Given the description of an element on the screen output the (x, y) to click on. 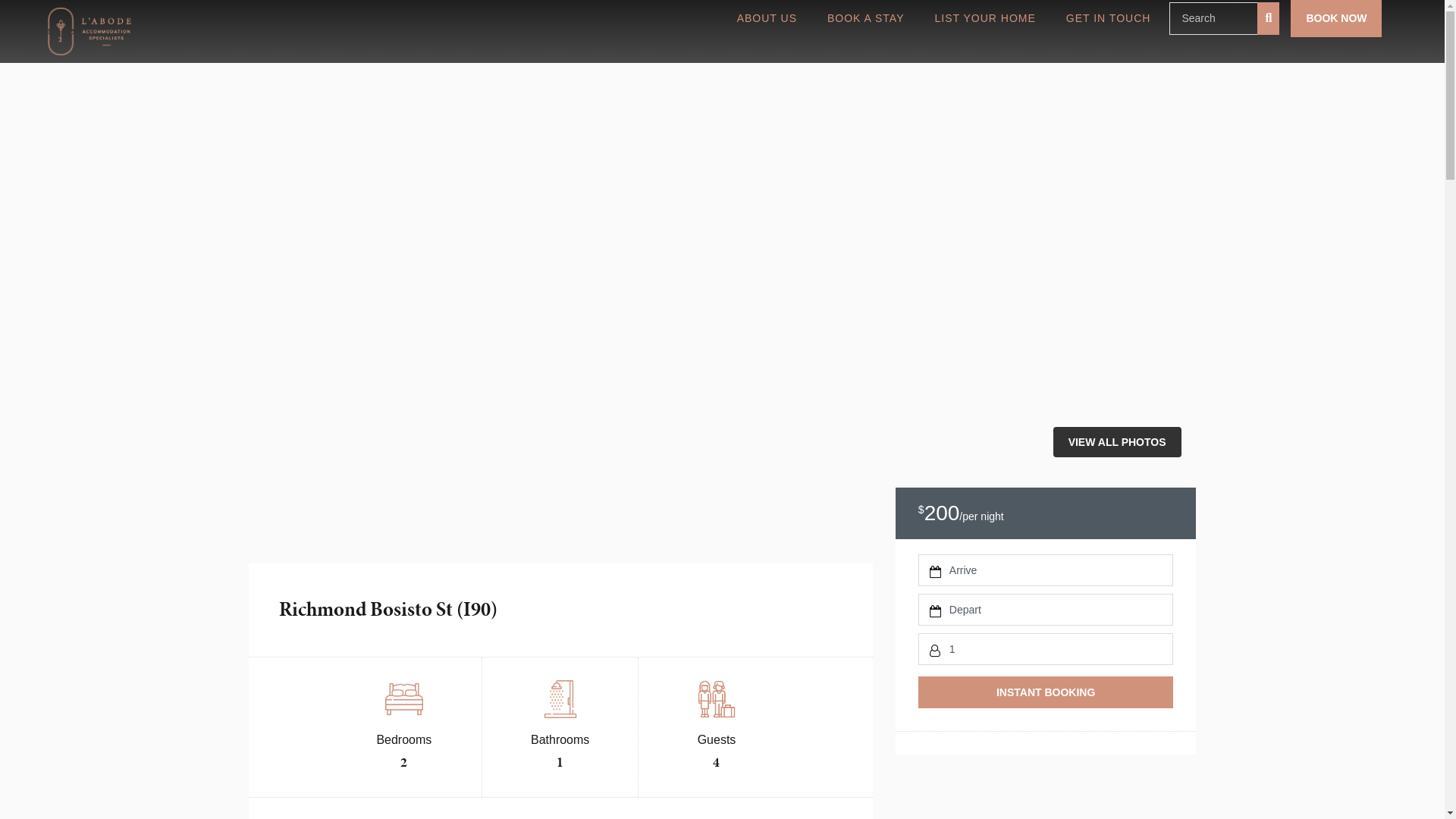
INSTANT BOOKING Element type: text (1045, 692)
LIST YOUR HOME Element type: text (985, 18)
GET IN TOUCH Element type: text (1108, 18)
BOOK NOW Element type: text (1335, 18)
BOOK A STAY Element type: text (865, 18)
ABOUT US Element type: text (766, 18)
VIEW ALL PHOTOS Element type: text (1117, 441)
